Given the description of an element on the screen output the (x, y) to click on. 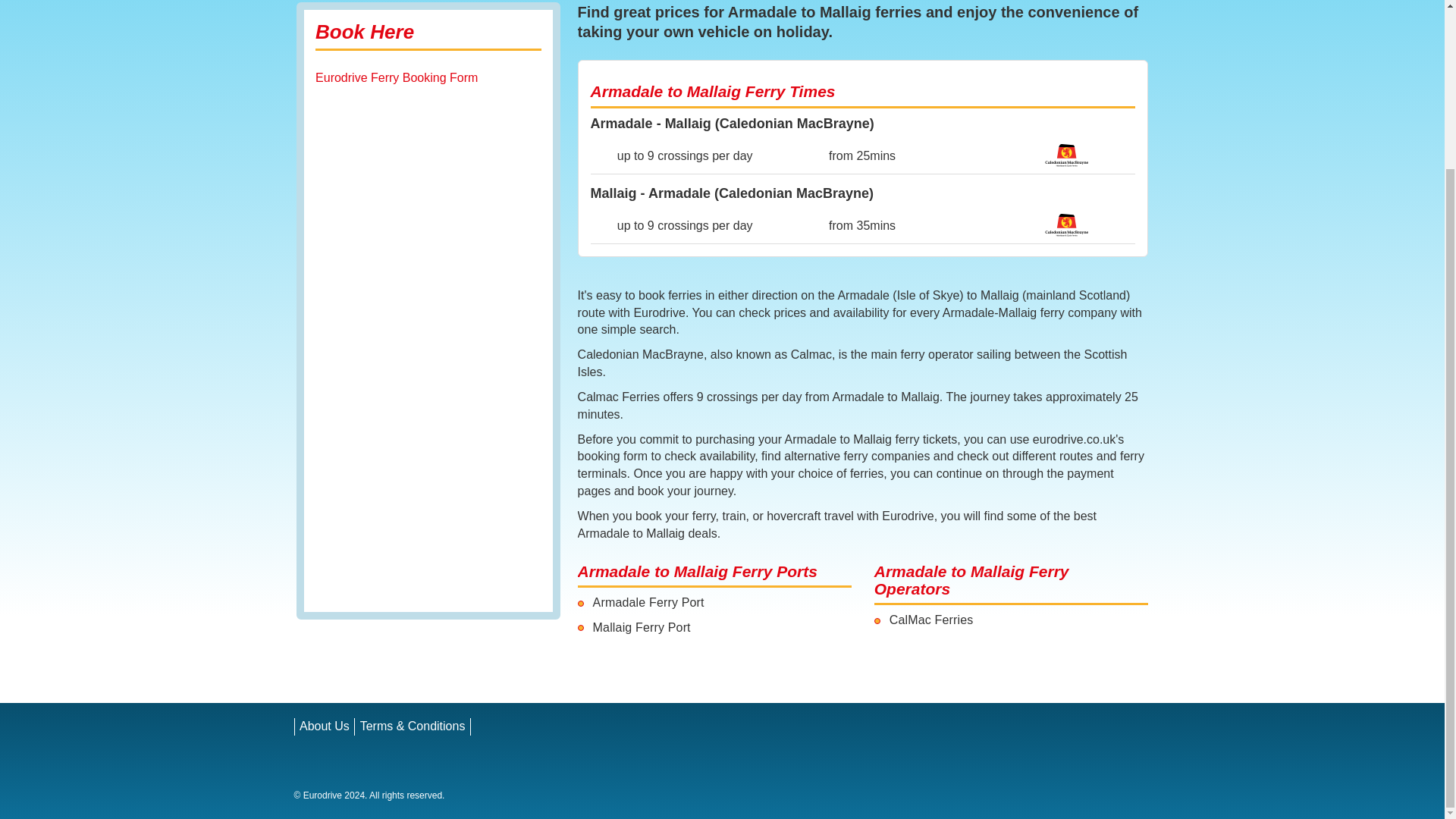
Mallaig Ferry Port (641, 626)
CalMac Ferries (931, 619)
Calmac Ferries (1066, 155)
Calmac Ferries (1066, 224)
Armadale Ferry Port (648, 602)
Eurodrive - The smart way to book your ferry online! (350, 773)
About Us (324, 726)
